Given the description of an element on the screen output the (x, y) to click on. 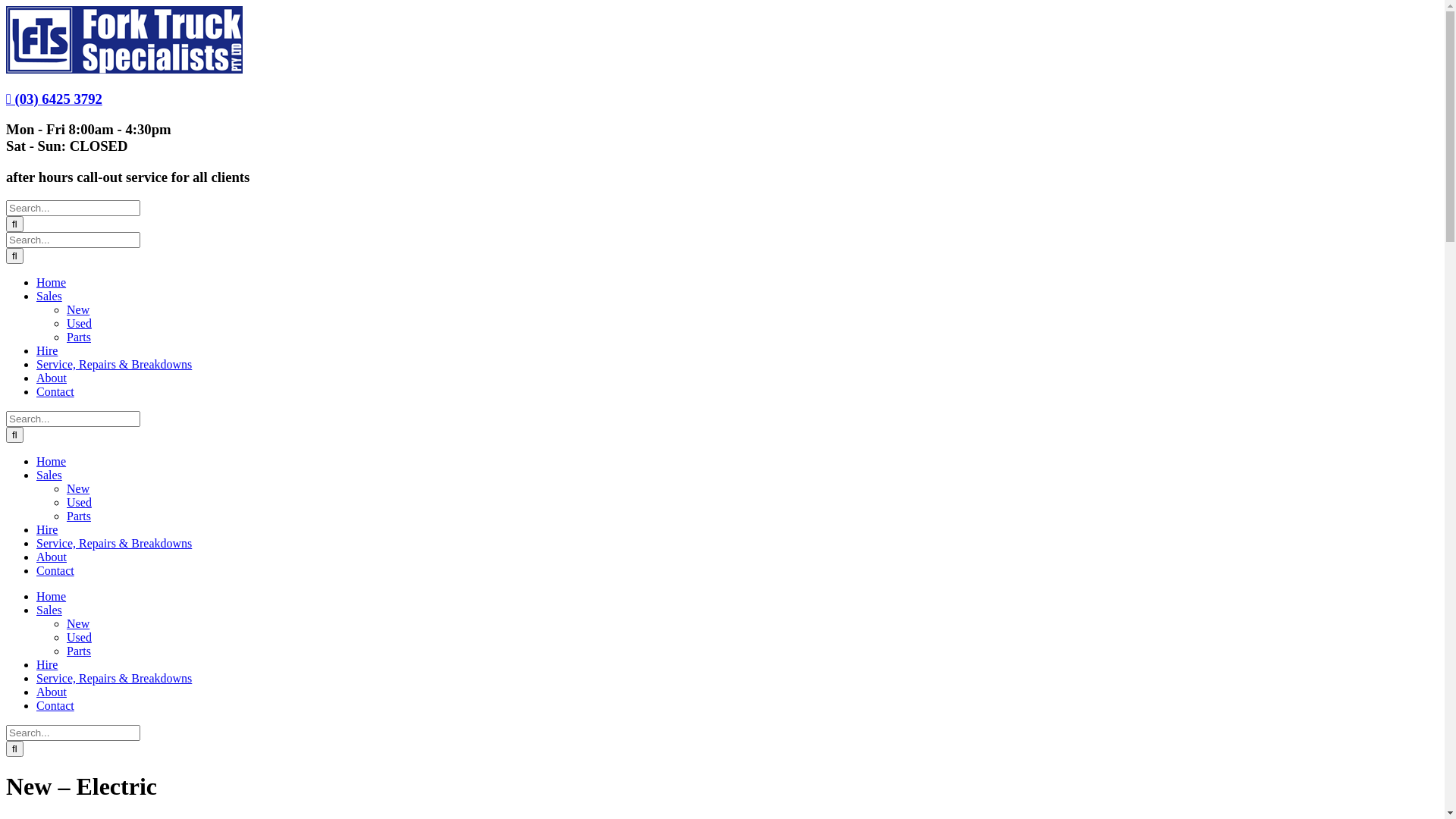
Parts Element type: text (78, 650)
About Element type: text (51, 691)
Hire Element type: text (46, 350)
Sales Element type: text (49, 609)
New Element type: text (77, 309)
Skip to content Element type: text (5, 5)
Used Element type: text (78, 501)
About Element type: text (51, 556)
Used Element type: text (78, 636)
Home Element type: text (50, 595)
Hire Element type: text (46, 529)
About Element type: text (51, 377)
New Element type: text (77, 488)
Service, Repairs & Breakdowns Element type: text (113, 363)
Used Element type: text (78, 322)
Parts Element type: text (78, 515)
Service, Repairs & Breakdowns Element type: text (113, 677)
New Element type: text (77, 623)
Sales Element type: text (49, 474)
Home Element type: text (50, 461)
Sales Element type: text (49, 295)
(03) 6425 3792 Element type: text (54, 98)
Home Element type: text (50, 282)
Parts Element type: text (78, 336)
Service, Repairs & Breakdowns Element type: text (113, 542)
Contact Element type: text (55, 570)
Contact Element type: text (55, 705)
Contact Element type: text (55, 391)
Hire Element type: text (46, 664)
